Given the description of an element on the screen output the (x, y) to click on. 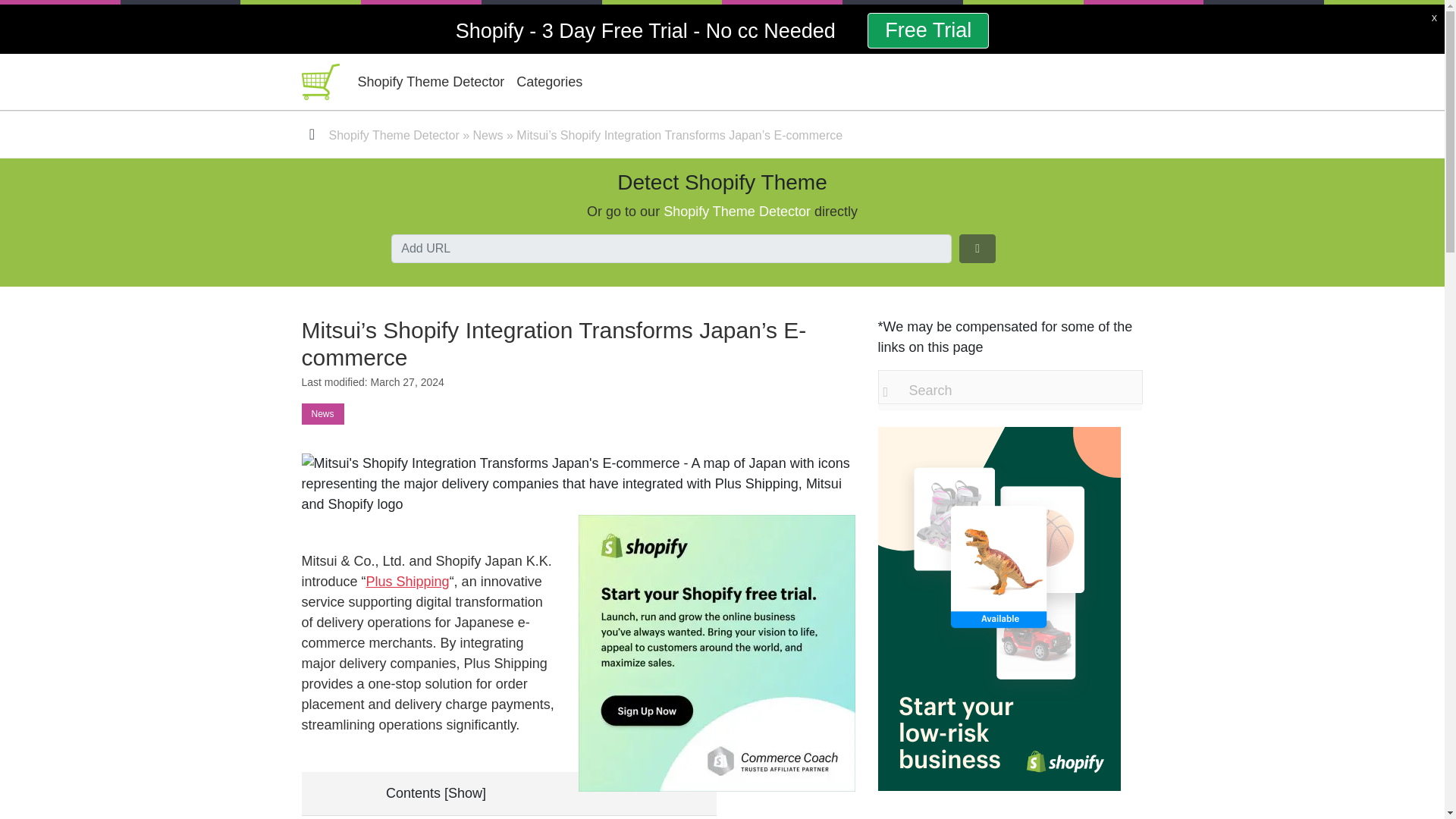
News (488, 134)
Plus Shipping (407, 581)
Categories (549, 81)
Shopify Theme Detector (736, 211)
Shopify Theme Detector (431, 81)
Categories (549, 81)
Shopify - 3 Day Free Trial - No cc Needed (648, 30)
News (322, 414)
Free Trial (927, 30)
Shopify Theme Detector (431, 81)
